Given the description of an element on the screen output the (x, y) to click on. 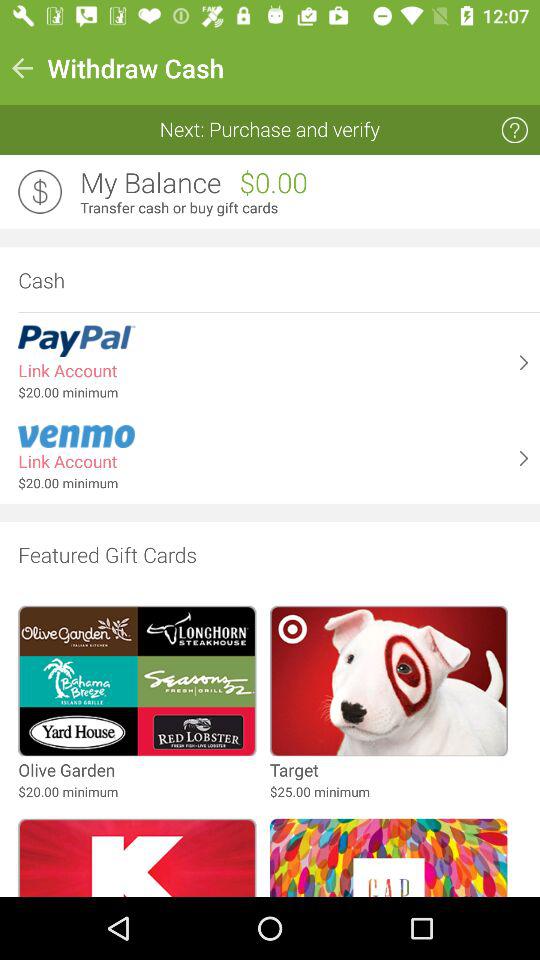
press item to the left of the withdraw cash (22, 67)
